Given the description of an element on the screen output the (x, y) to click on. 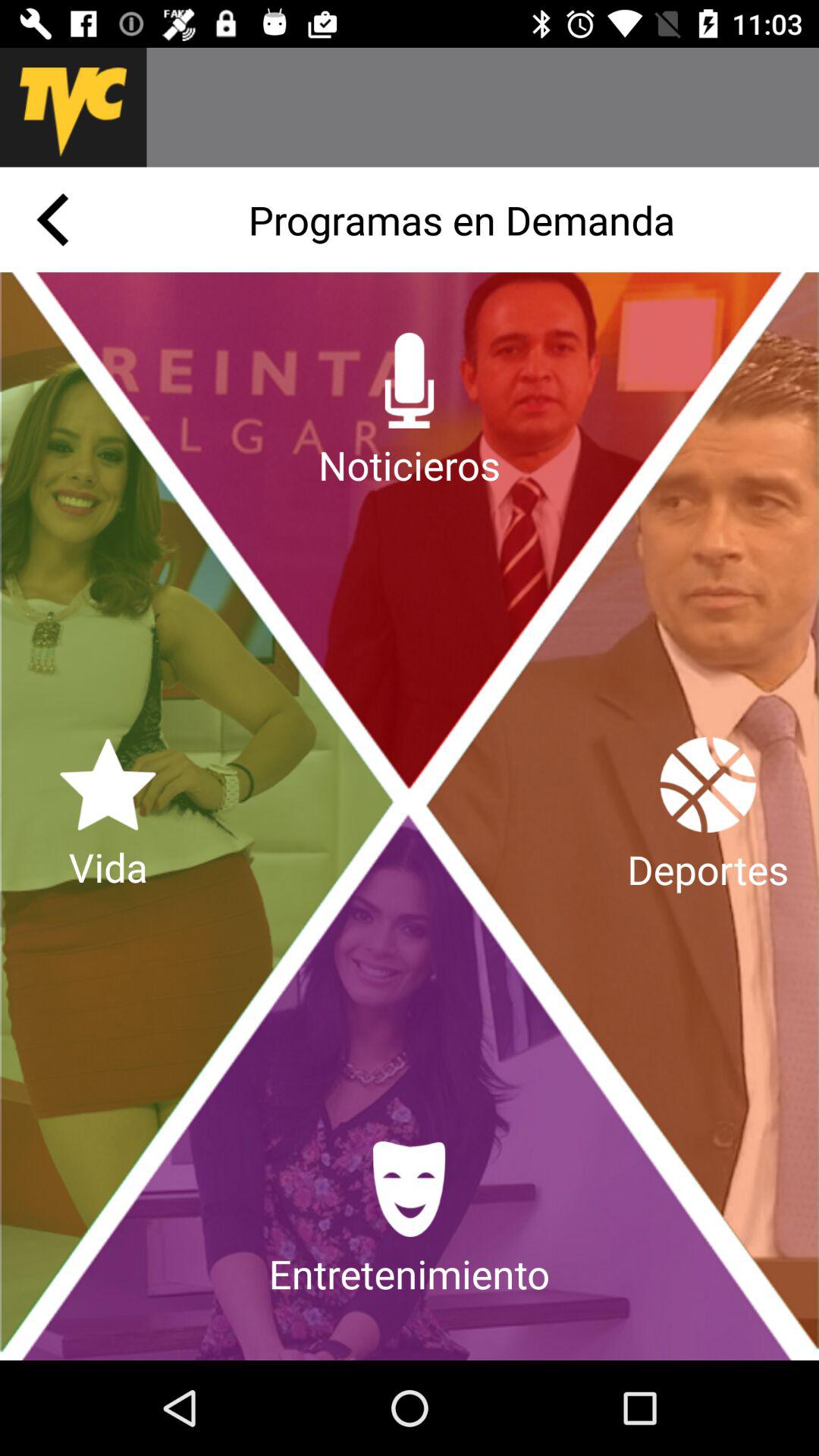
turn on app next to deportes item (107, 815)
